Given the description of an element on the screen output the (x, y) to click on. 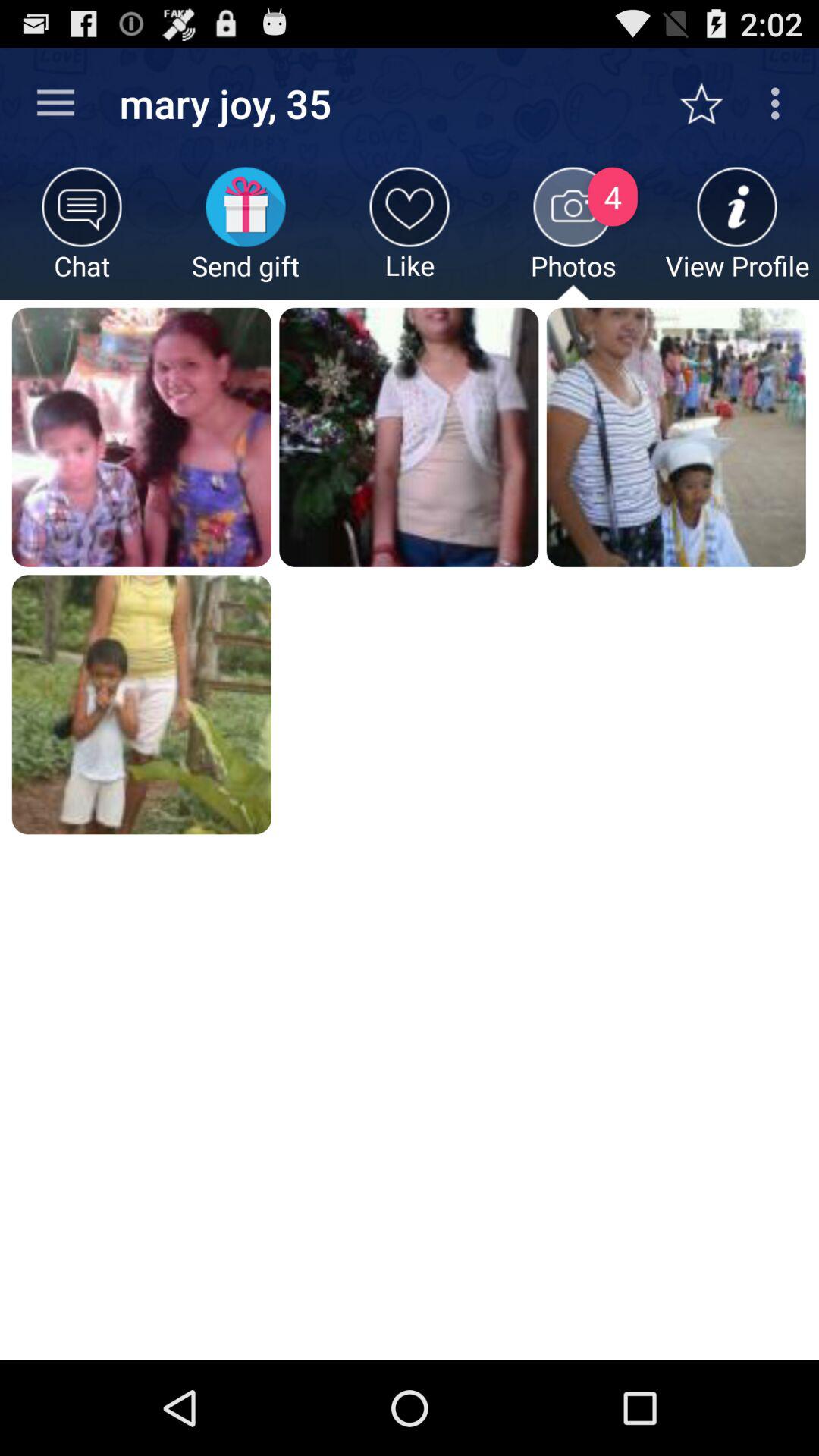
select view profile (737, 233)
